Given the description of an element on the screen output the (x, y) to click on. 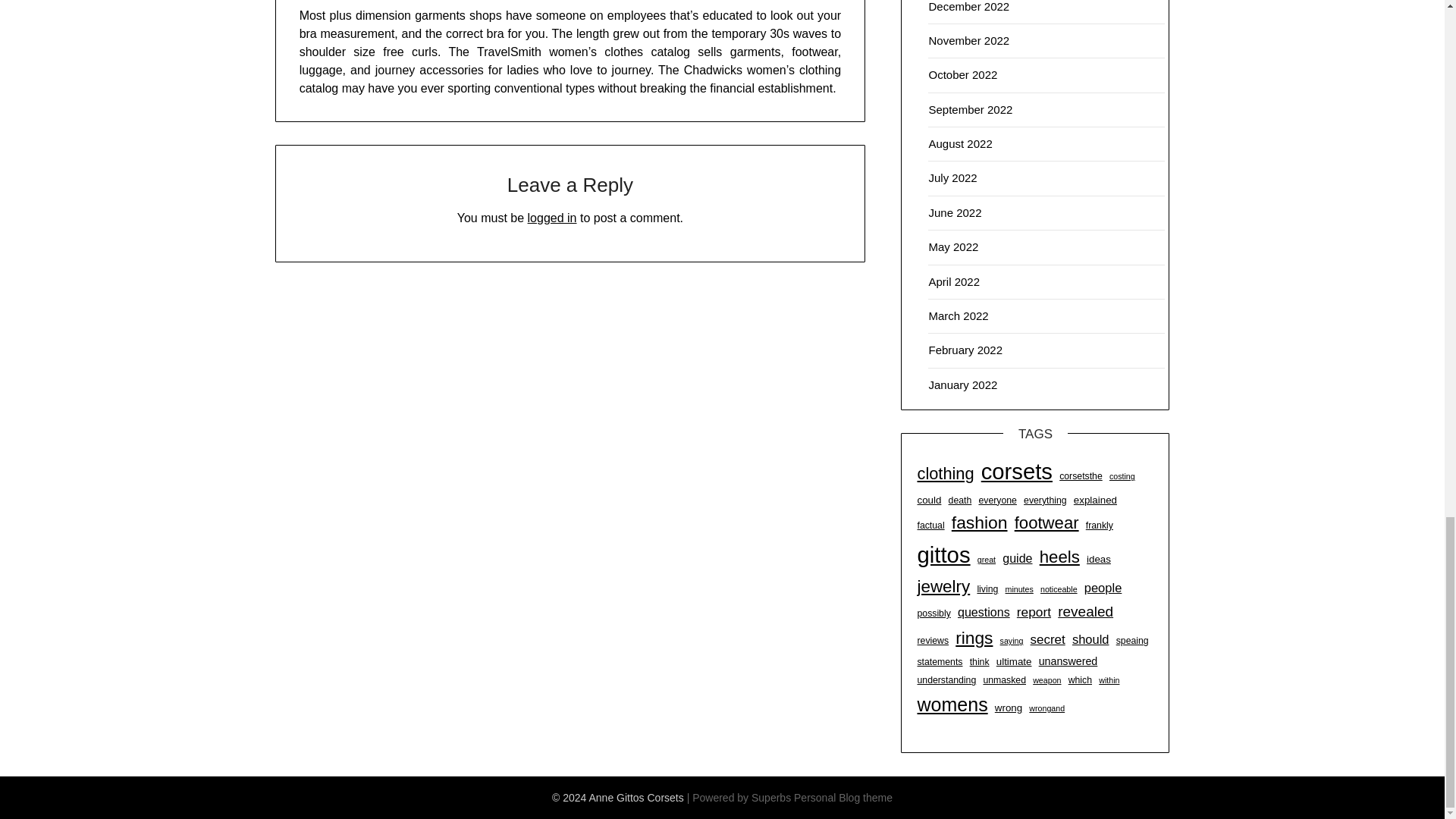
May 2022 (953, 246)
November 2022 (968, 40)
logged in (551, 217)
December 2022 (968, 6)
September 2022 (969, 109)
June 2022 (954, 212)
August 2022 (959, 143)
October 2022 (962, 74)
July 2022 (952, 177)
